Given the description of an element on the screen output the (x, y) to click on. 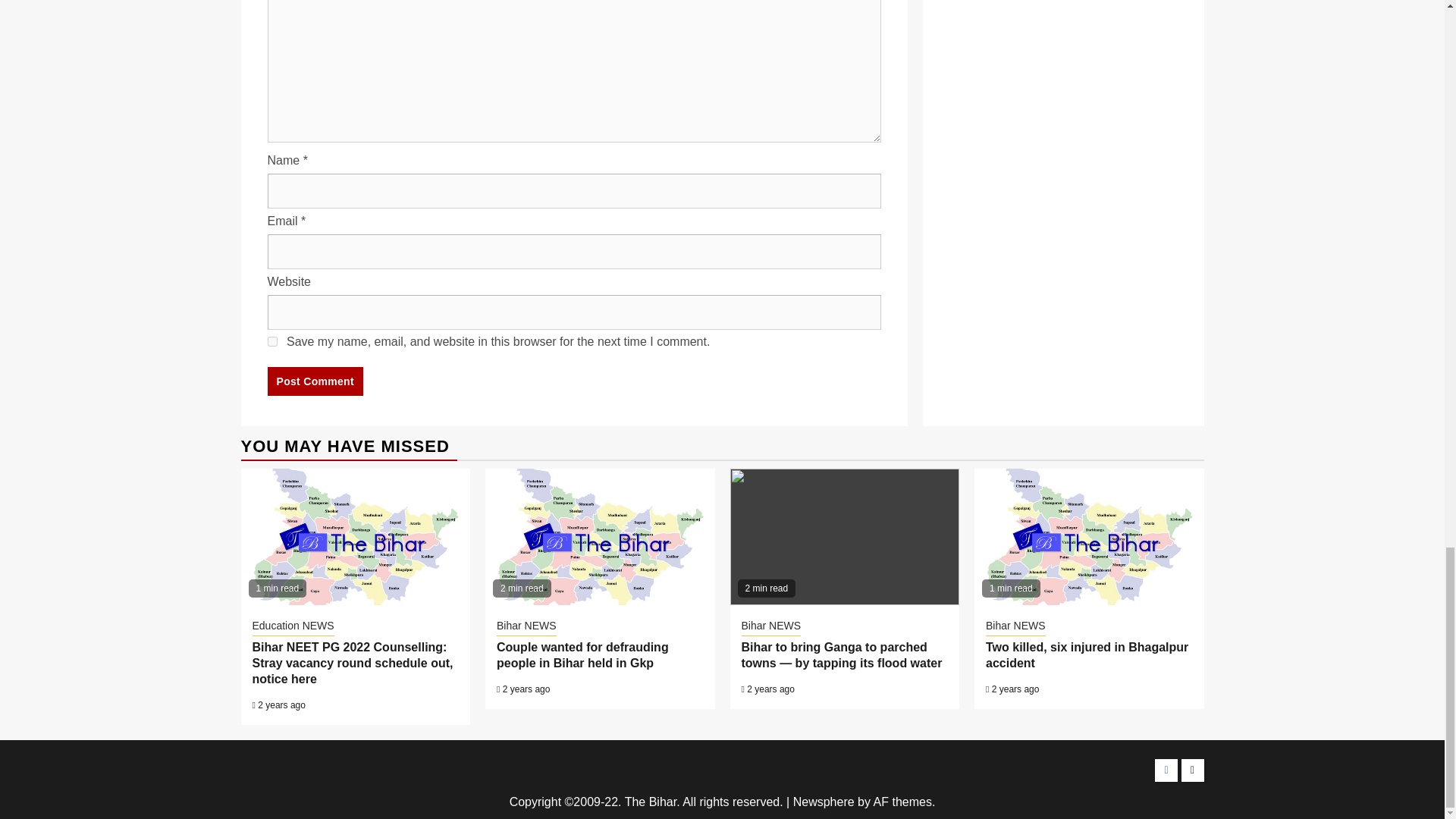
yes (271, 341)
Post Comment (314, 380)
